Given the description of an element on the screen output the (x, y) to click on. 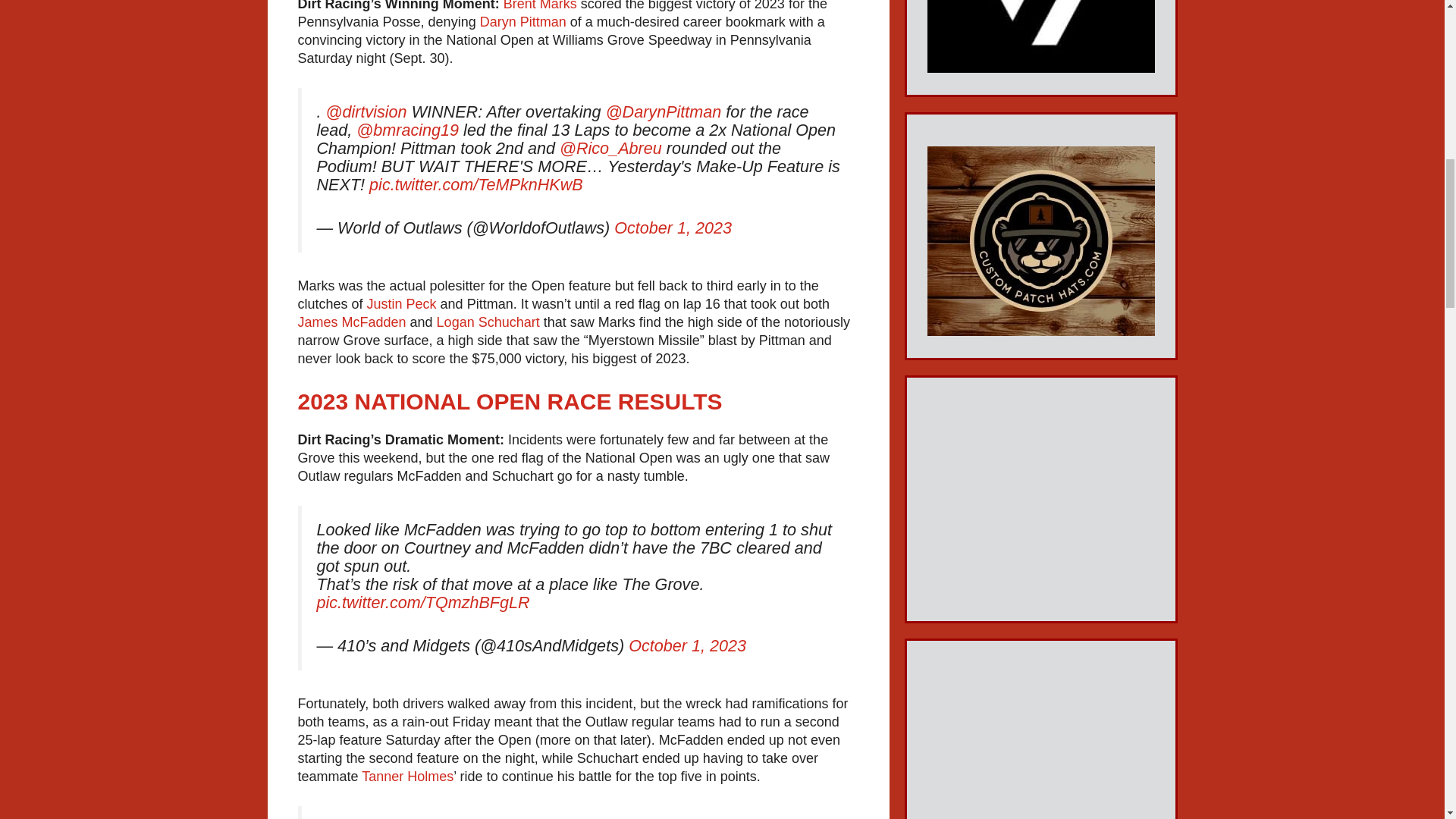
Justin Peck (401, 304)
Logan Schuchart (488, 322)
Scroll back to top (1406, 720)
October 1, 2023 (673, 227)
2023 NATIONAL OPEN RACE RESULTS (509, 401)
Daryn Pittman (523, 21)
James McFadden (351, 322)
Tanner Holmes (406, 776)
Brent Marks (539, 5)
October 1, 2023 (686, 645)
